Given the description of an element on the screen output the (x, y) to click on. 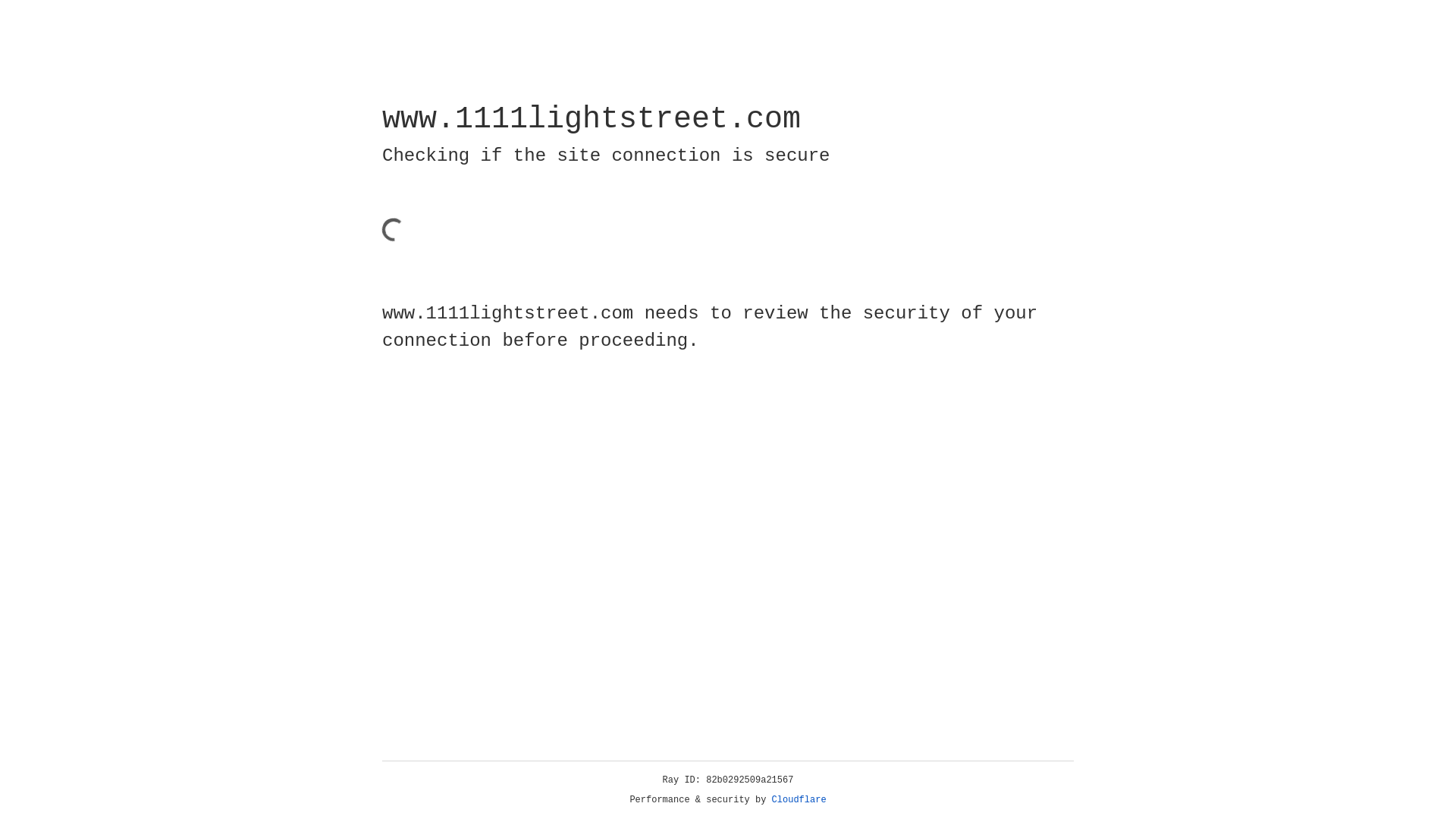
Cloudflare Element type: text (798, 799)
